Given the description of an element on the screen output the (x, y) to click on. 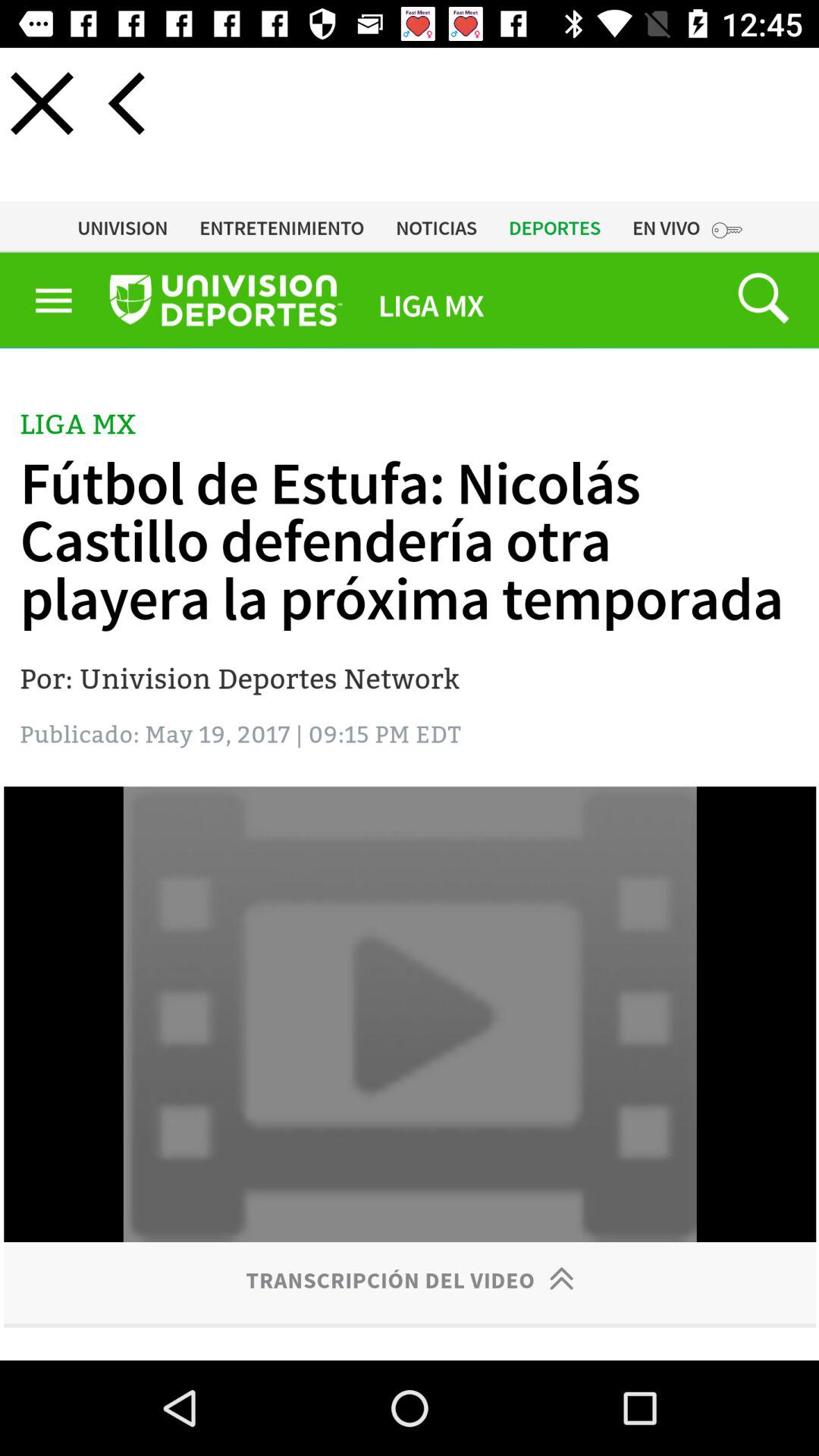
back farce (126, 103)
